Given the description of an element on the screen output the (x, y) to click on. 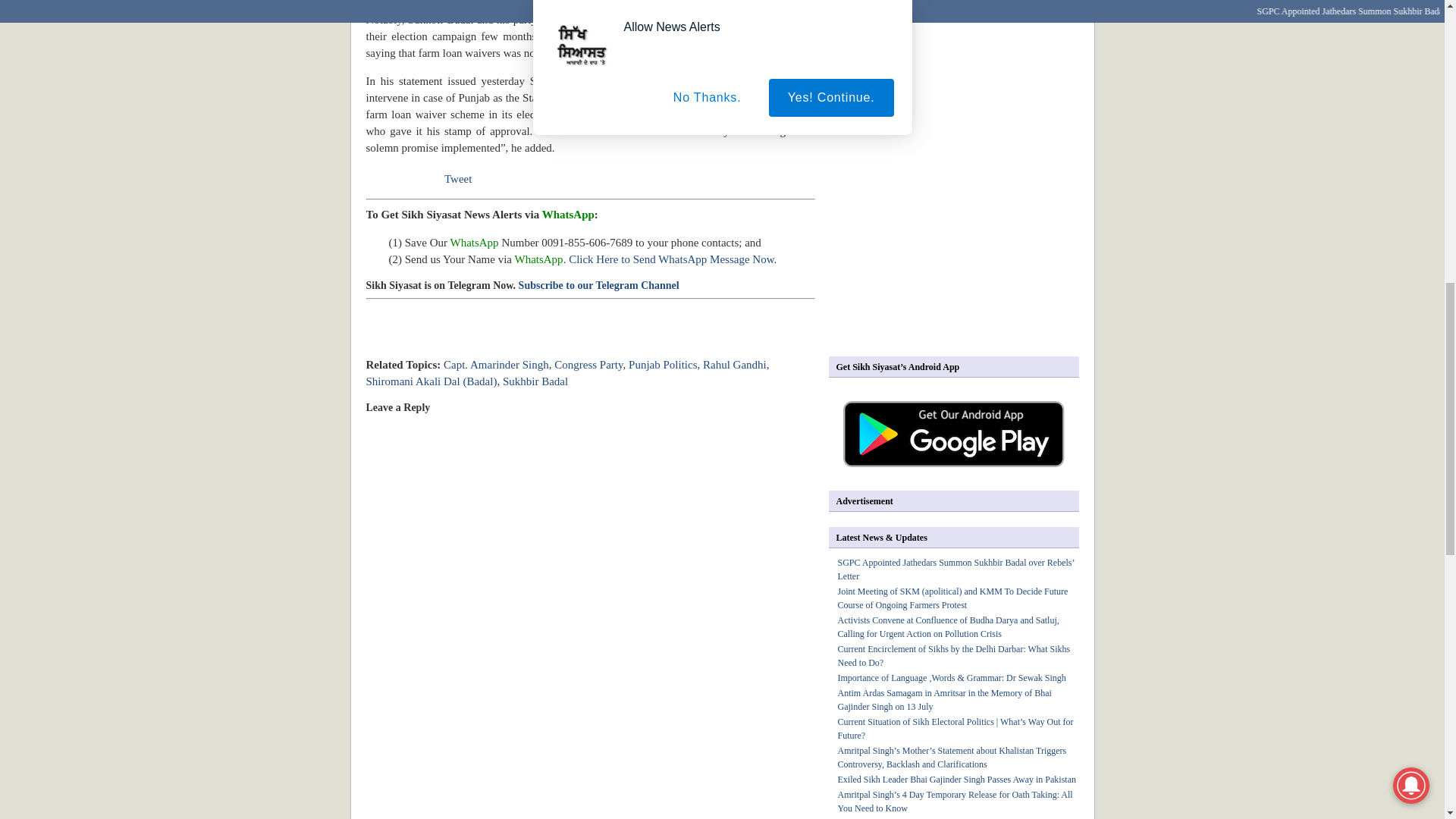
Advertisement (542, 338)
Advertisement (955, 233)
